Given the description of an element on the screen output the (x, y) to click on. 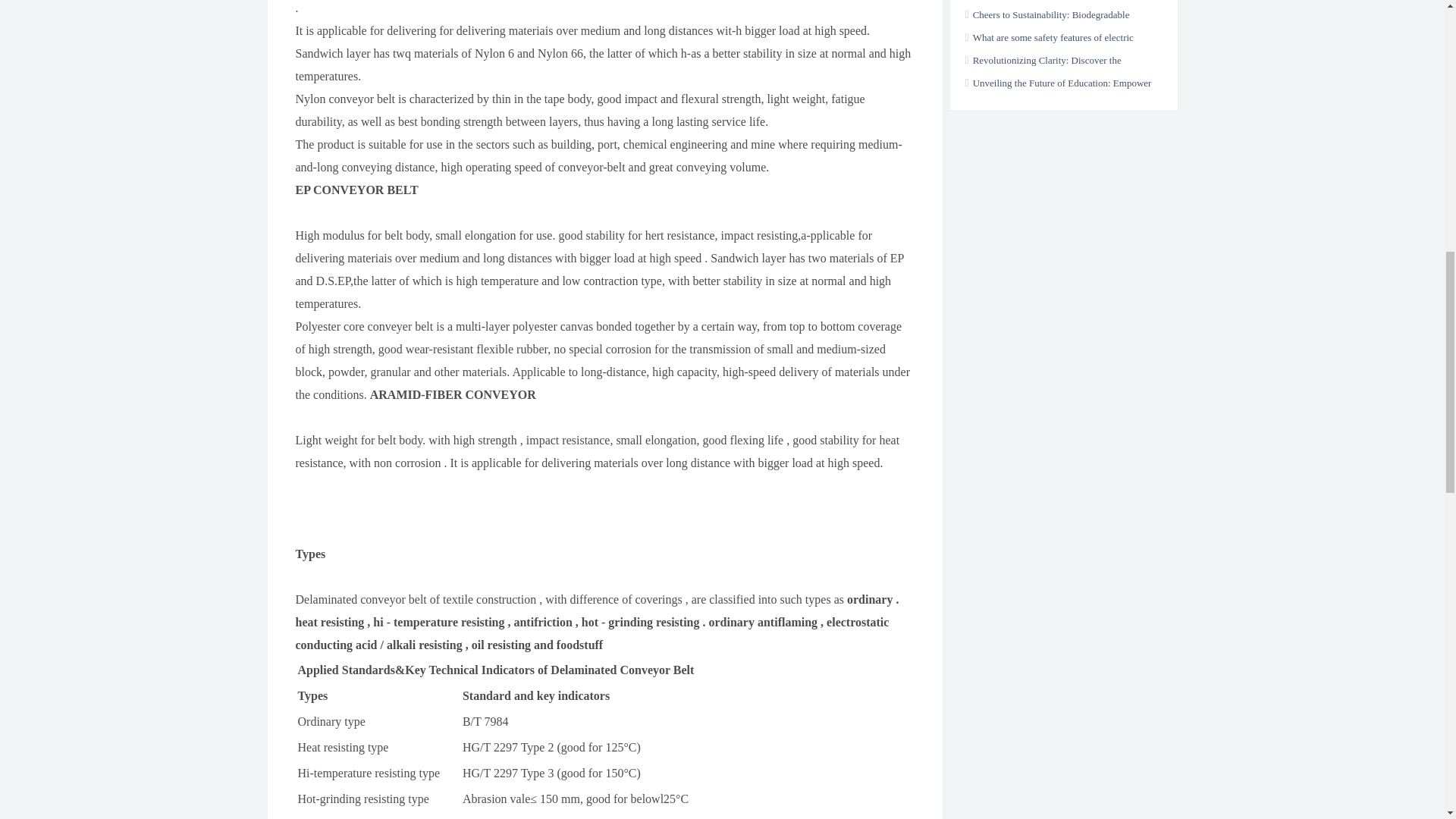
What are some safety features of electric infrared heaters? (1047, 48)
